Given the description of an element on the screen output the (x, y) to click on. 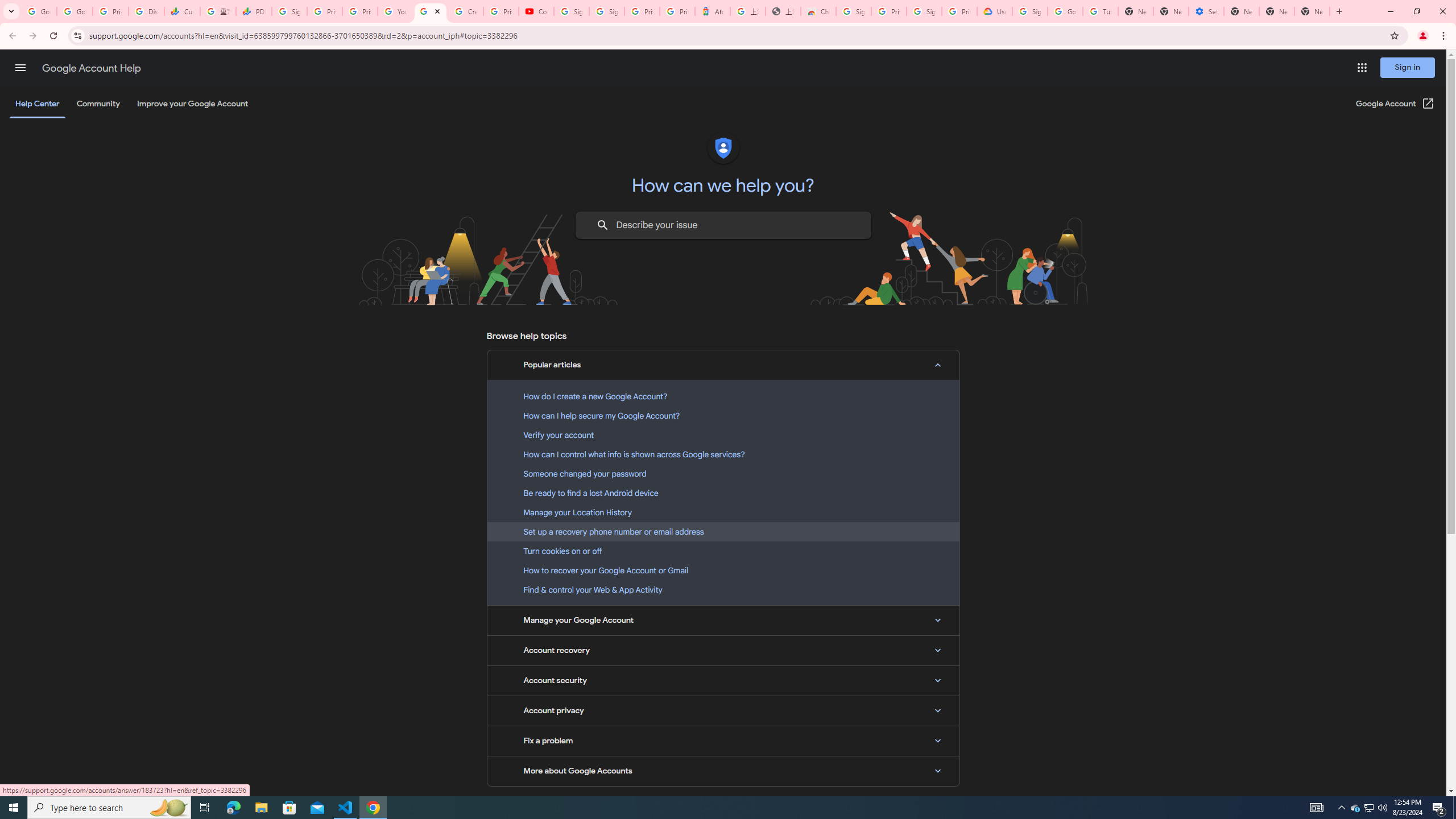
Verify your account (722, 434)
Manage your Location History (722, 512)
